Given the description of an element on the screen output the (x, y) to click on. 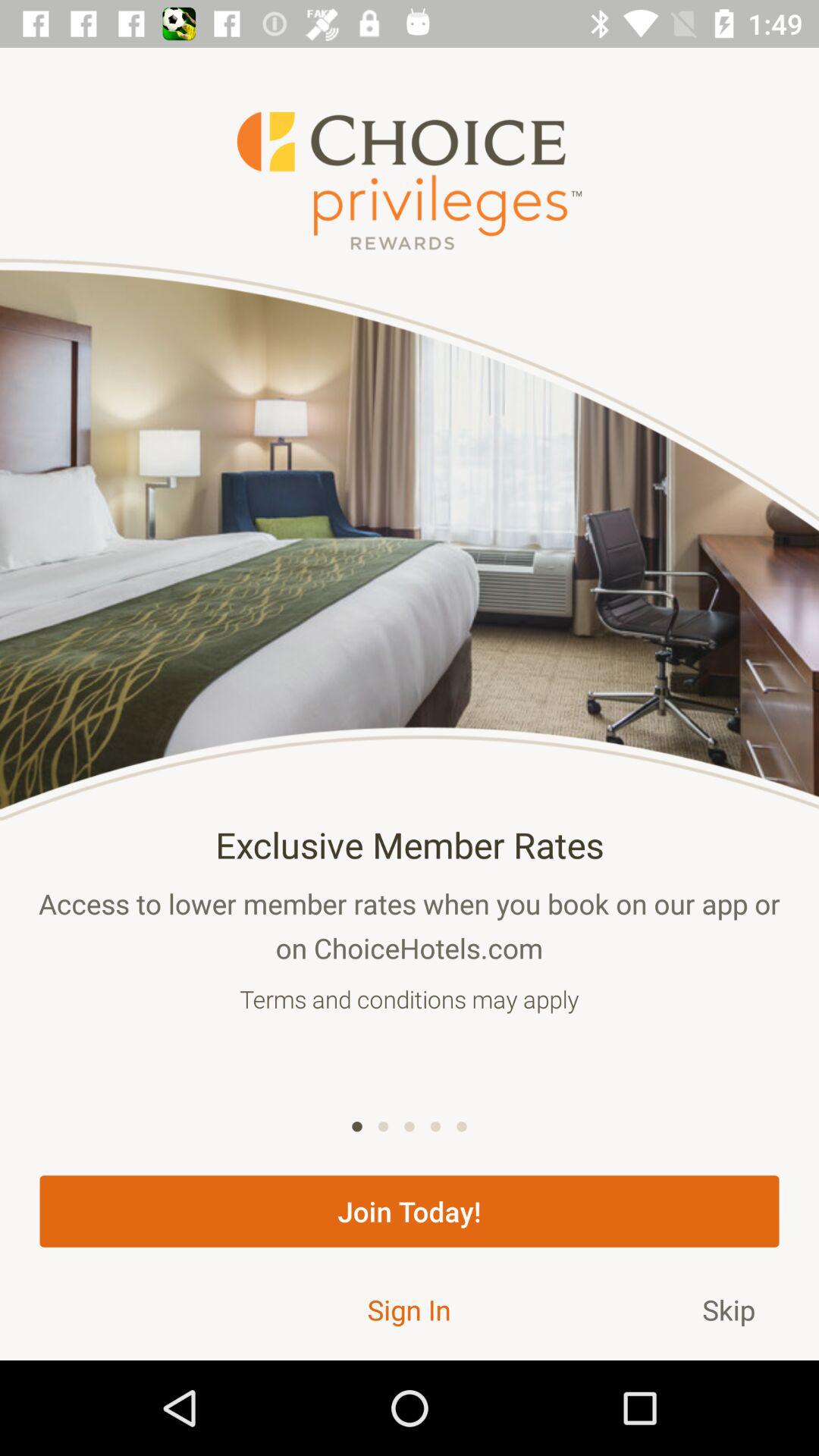
tap icon below the join today! icon (408, 1309)
